Given the description of an element on the screen output the (x, y) to click on. 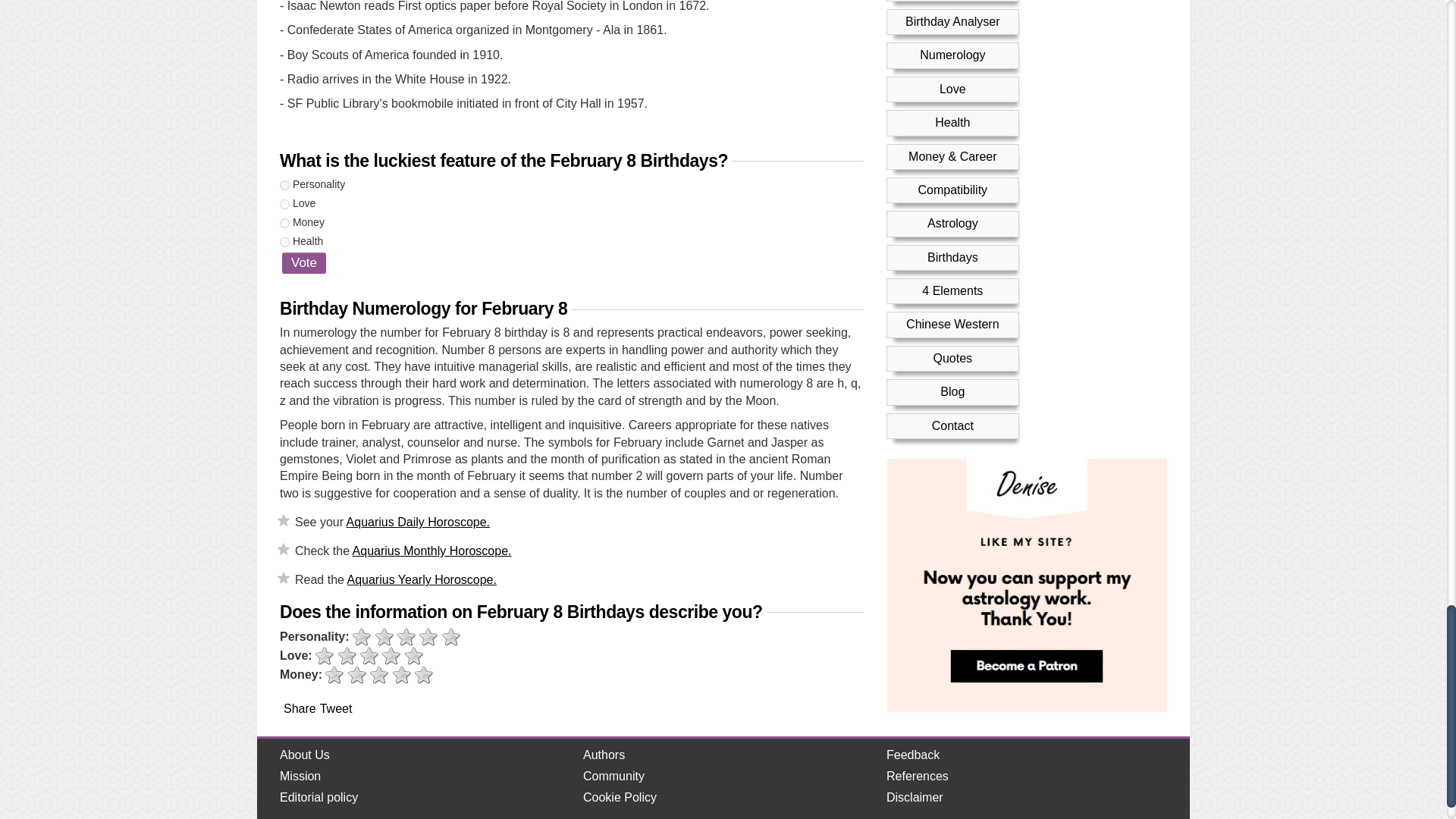
Average (368, 656)
q3 (284, 223)
Aquarius August 2024 Monthly Horoscope (432, 550)
Good (428, 637)
q2 (284, 204)
Very Good (413, 656)
q4 (284, 242)
Somewhat (383, 637)
Somewhat (346, 656)
Average (406, 637)
